Given the description of an element on the screen output the (x, y) to click on. 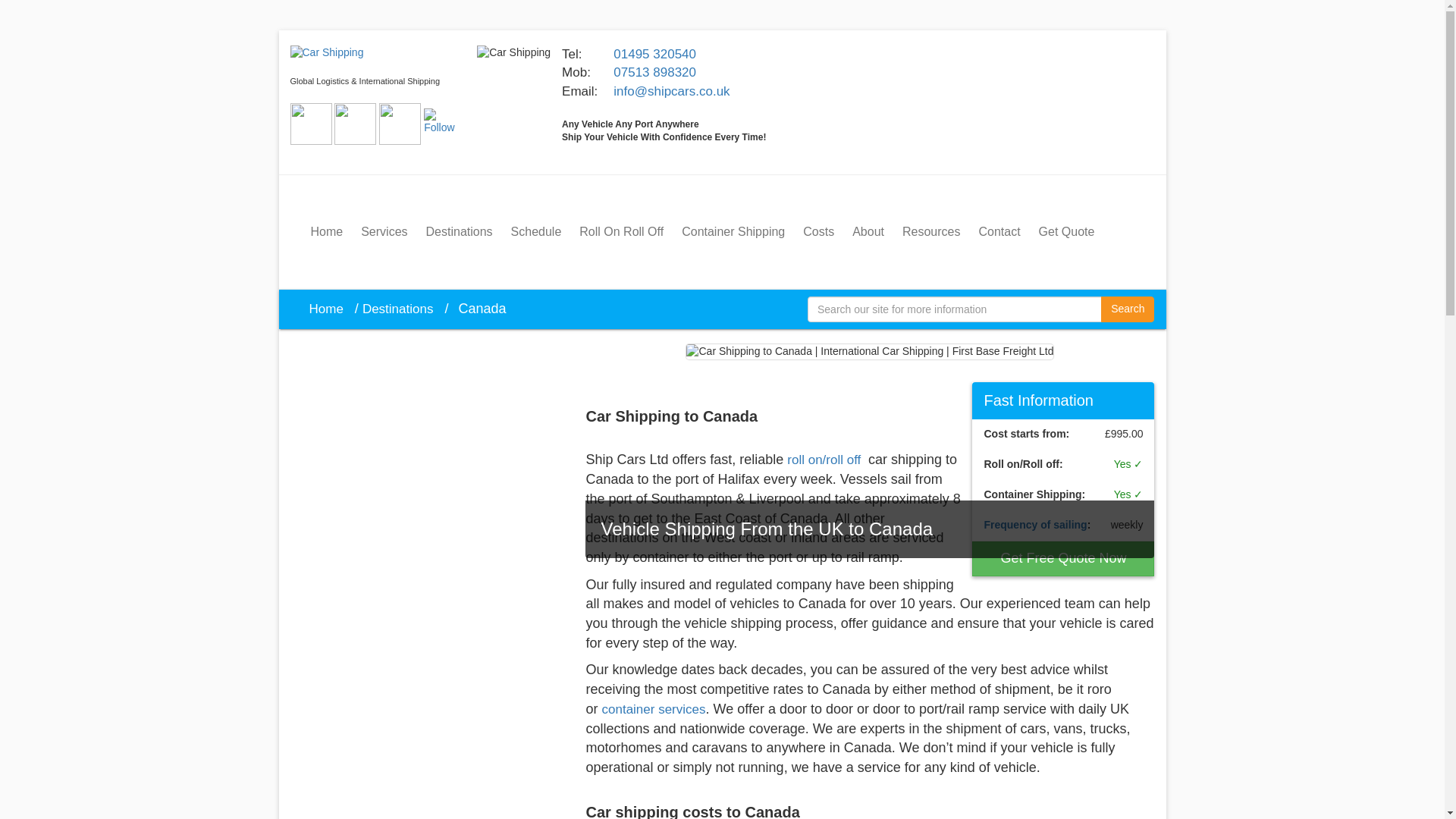
07513 898320 (653, 72)
Get Quote (1066, 231)
01495 320540 (653, 53)
Destinations (401, 309)
Search (1127, 309)
Visit us on Youtube (399, 122)
International Car shipping Services (513, 52)
UK Car Shipping Company - First Base Freight (325, 52)
Follow us on LinkedIn (444, 122)
Schedule (536, 231)
UK Car Shipping Company (325, 51)
Contact (999, 231)
About (868, 231)
Home (329, 309)
Roll On Roll Off (621, 231)
